Given the description of an element on the screen output the (x, y) to click on. 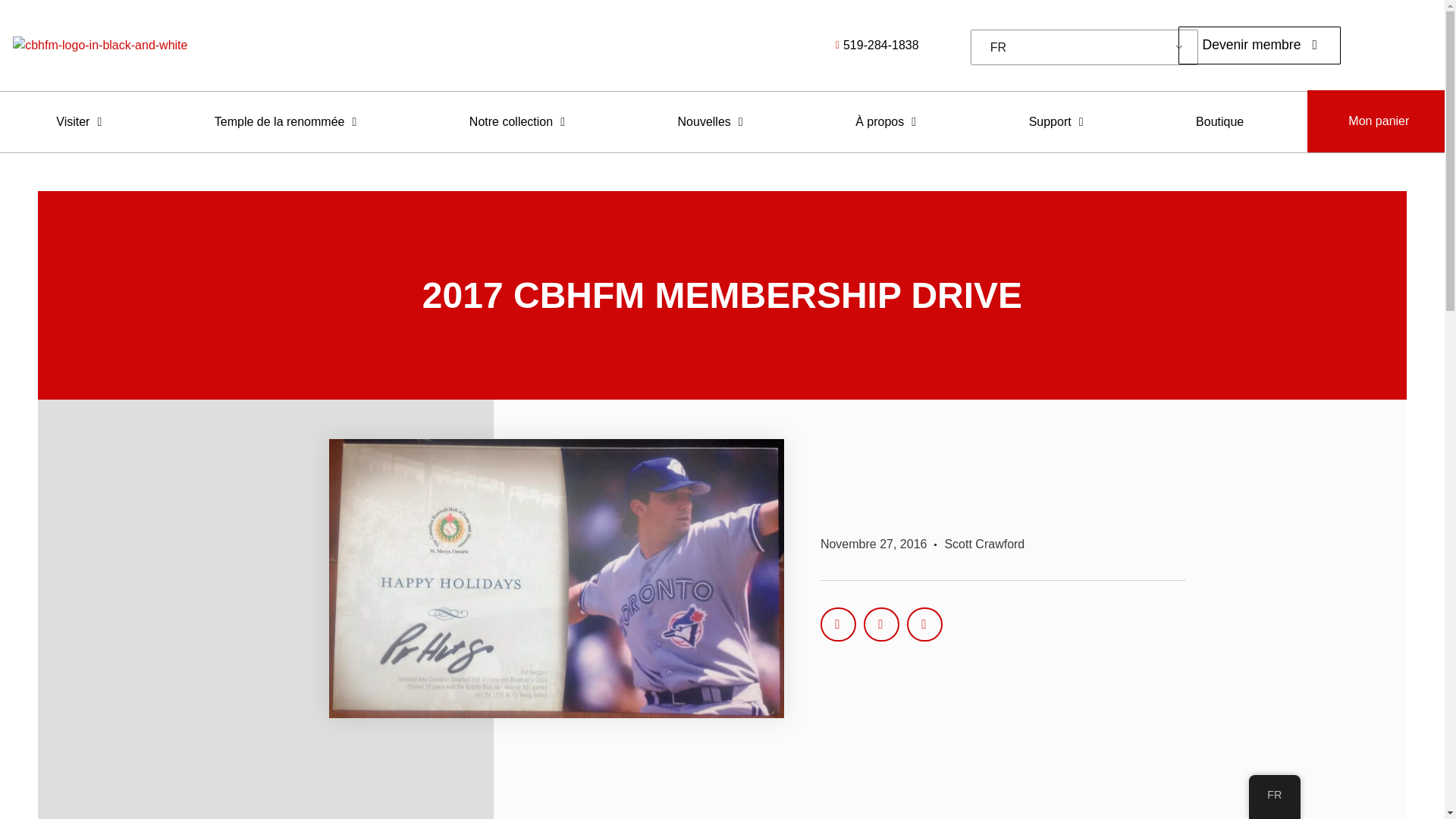
cbhfm-logo-in-black-and-white (100, 45)
519-284-1838 (783, 45)
Devenir membre (1258, 45)
Visiter (79, 121)
FR (1081, 47)
French (1081, 47)
Notre collection (517, 121)
